Given the description of an element on the screen output the (x, y) to click on. 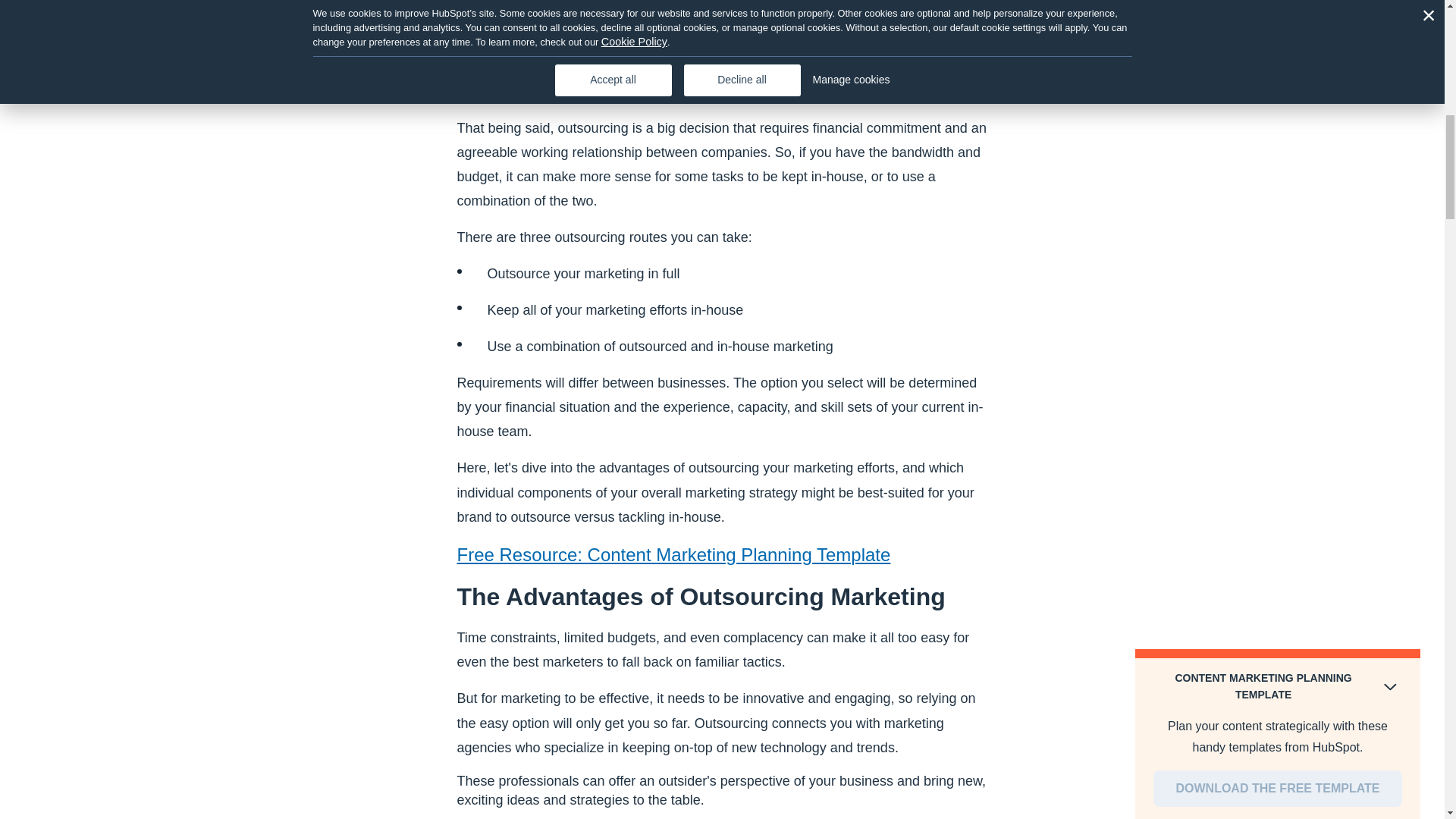
Free Resource: Content Marketing Planning Template (673, 554)
